Given the description of an element on the screen output the (x, y) to click on. 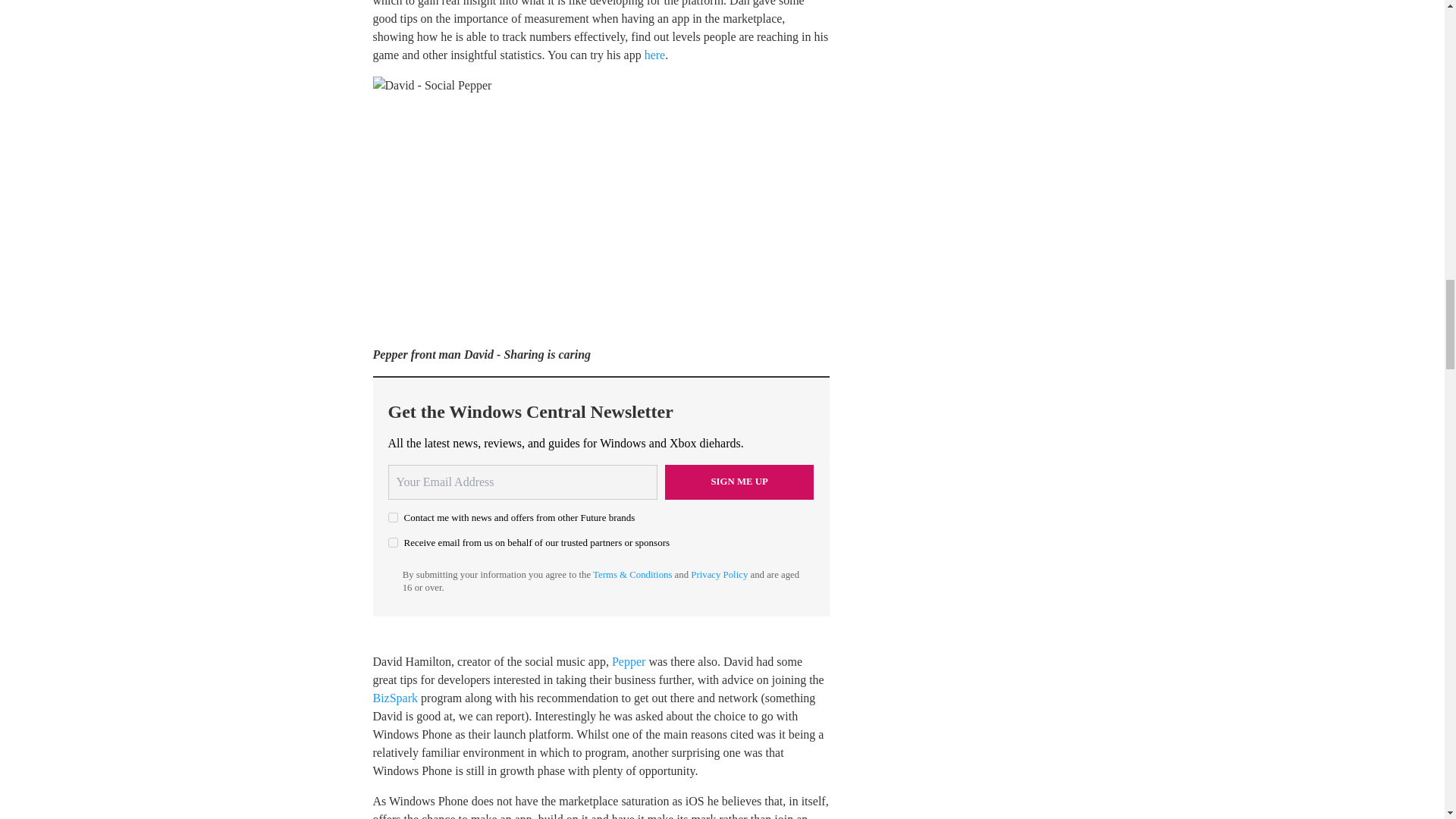
Privacy Policy (719, 574)
on (392, 542)
here (655, 54)
Sign me up (739, 482)
Sign me up (739, 482)
on (392, 517)
